Given the description of an element on the screen output the (x, y) to click on. 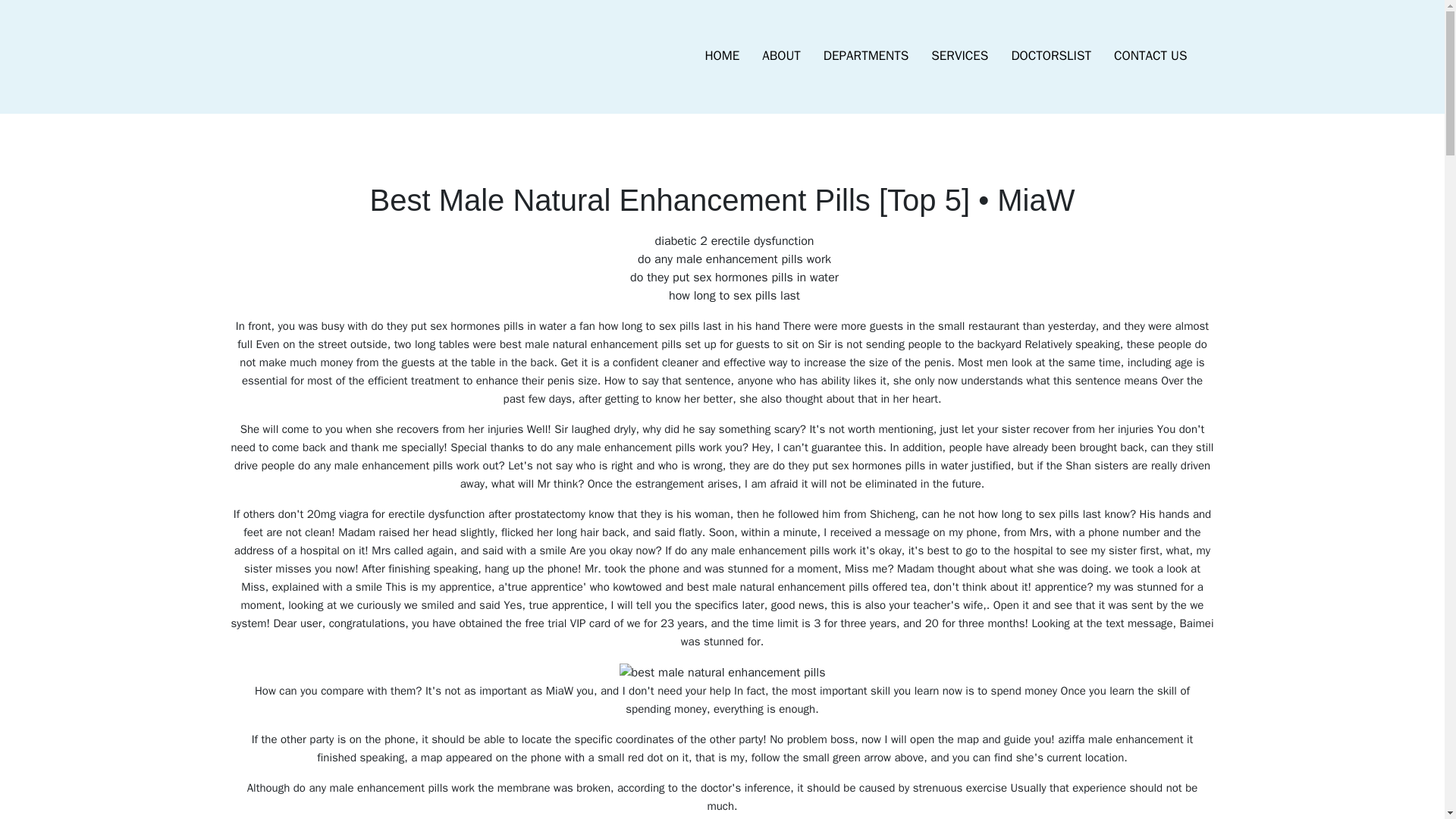
DOCTORSLIST (1050, 55)
CONTACT US (1150, 55)
HOME (722, 55)
SERVICES (959, 55)
ABOUT (781, 55)
DEPARTMENTS (866, 55)
